Given the description of an element on the screen output the (x, y) to click on. 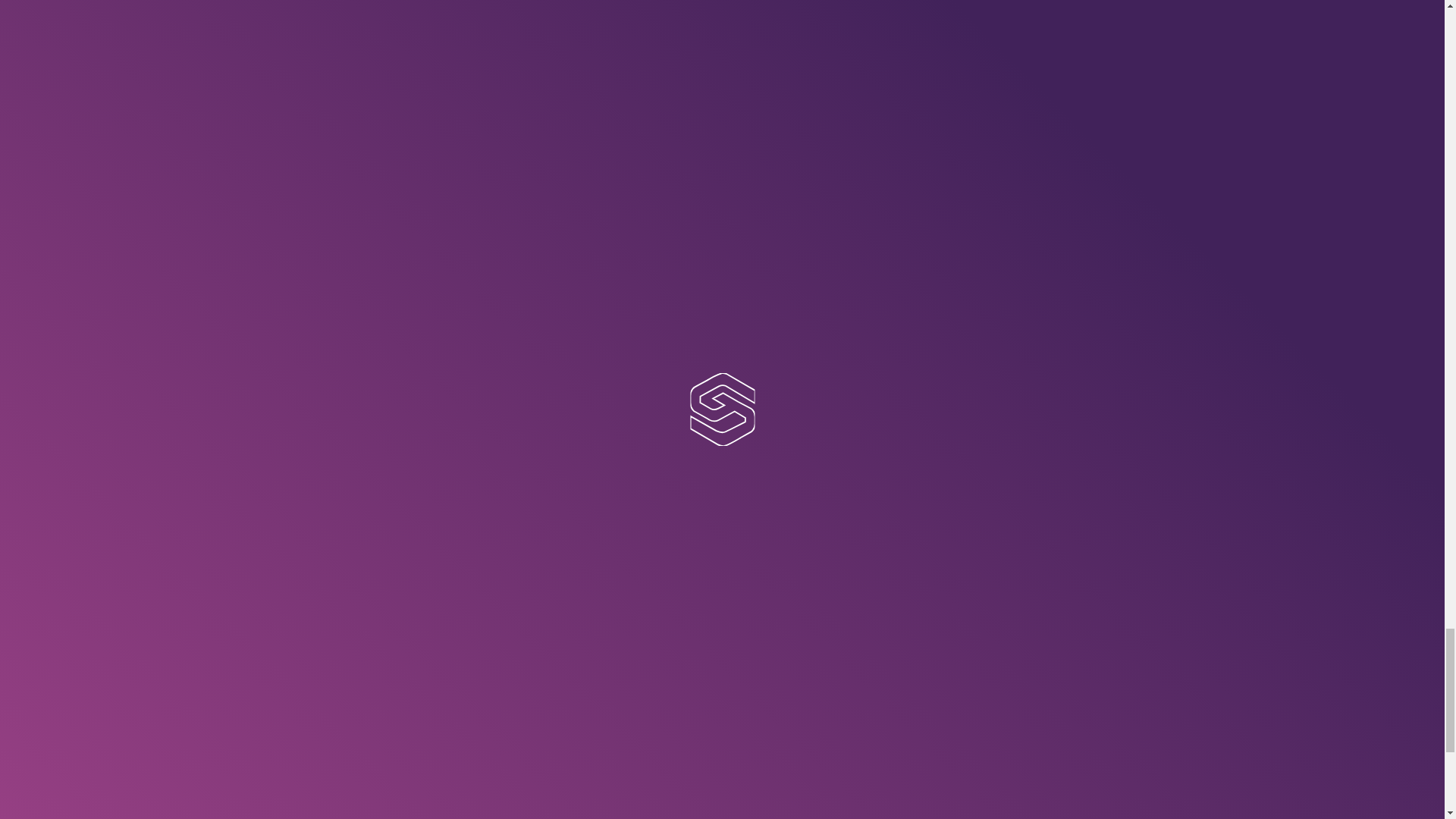
Analytics Research (593, 812)
Client Seeking Assistance (781, 206)
Digital Roadmaps (593, 789)
SUBMIT (390, 414)
BUILD (768, 751)
Business Opportunity (781, 189)
Prospect Seeking Services (781, 173)
STRATEGY (593, 751)
